Given the description of an element on the screen output the (x, y) to click on. 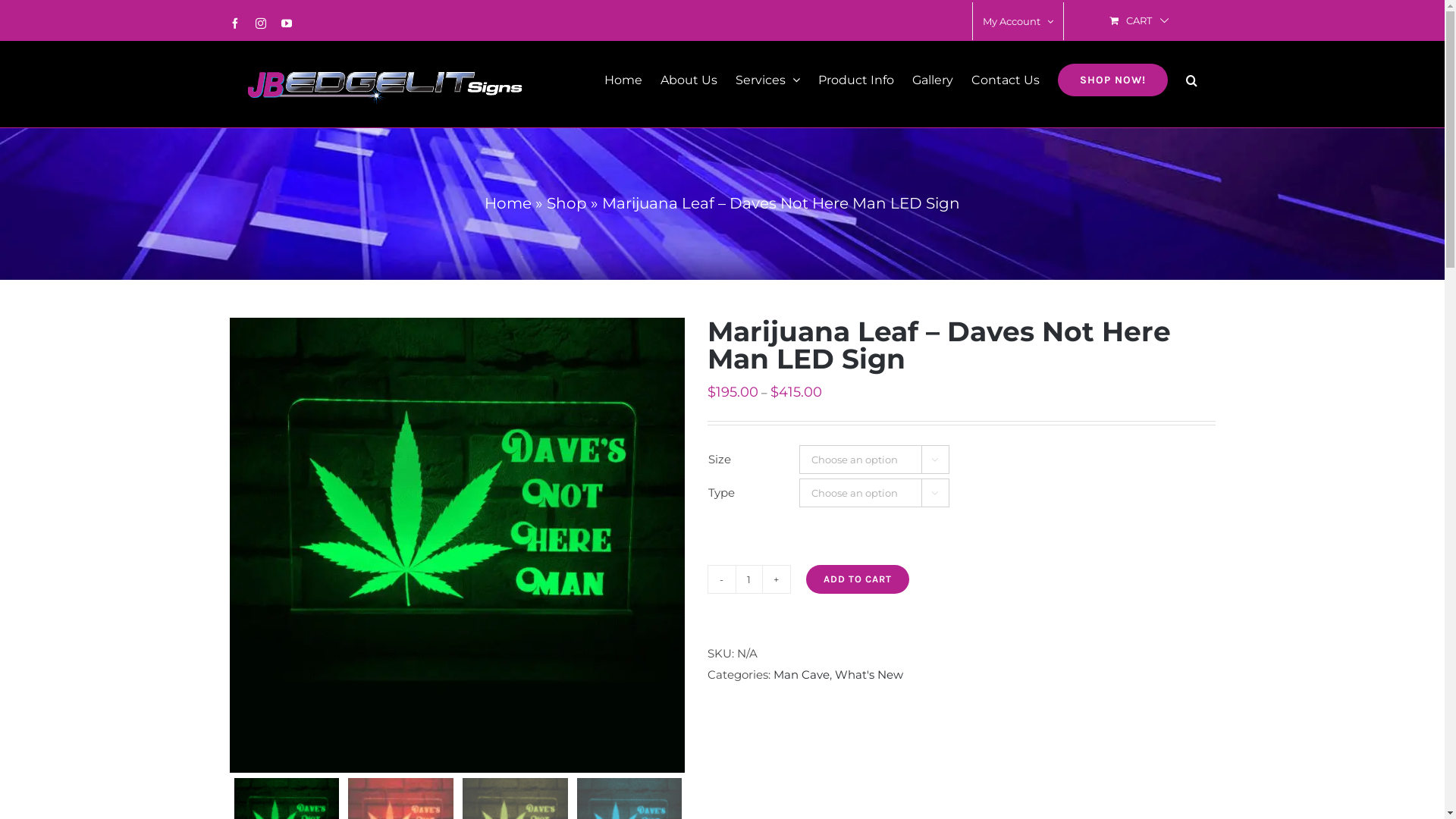
Services Element type: text (767, 78)
Shop Element type: text (566, 203)
CART Element type: text (1138, 21)
Contact Us Element type: text (1004, 78)
ADD TO CART Element type: text (856, 578)
Product Info Element type: text (855, 78)
Facebook Element type: text (234, 23)
My Account Element type: text (1017, 21)
About Us Element type: text (687, 78)
What's New Element type: text (868, 674)
Gallery Element type: text (931, 78)
YouTube Element type: text (285, 23)
Home Element type: text (507, 203)
Man Cave Element type: text (801, 674)
Search Element type: hover (1191, 78)
SHOP NOW! Element type: text (1112, 78)
Marijuana Leaf - Daves Not Here Man 1 Element type: hover (456, 544)
Log In Element type: text (1076, 165)
Home Element type: text (622, 78)
Instagram Element type: text (259, 23)
